Given the description of an element on the screen output the (x, y) to click on. 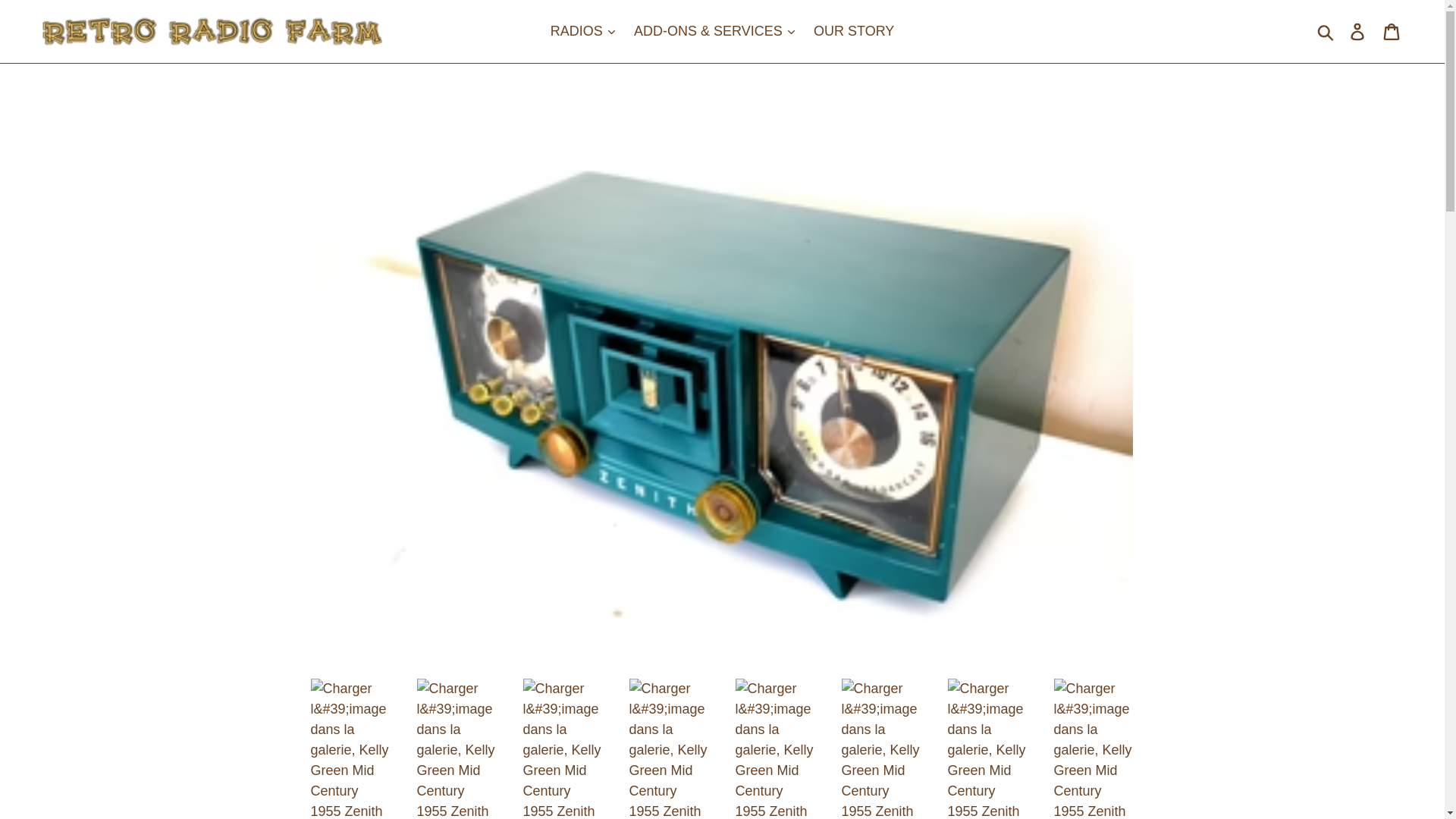
Soumettre (1326, 31)
Se connecter (1357, 31)
OUR STORY (853, 31)
Panier (1392, 31)
